Given the description of an element on the screen output the (x, y) to click on. 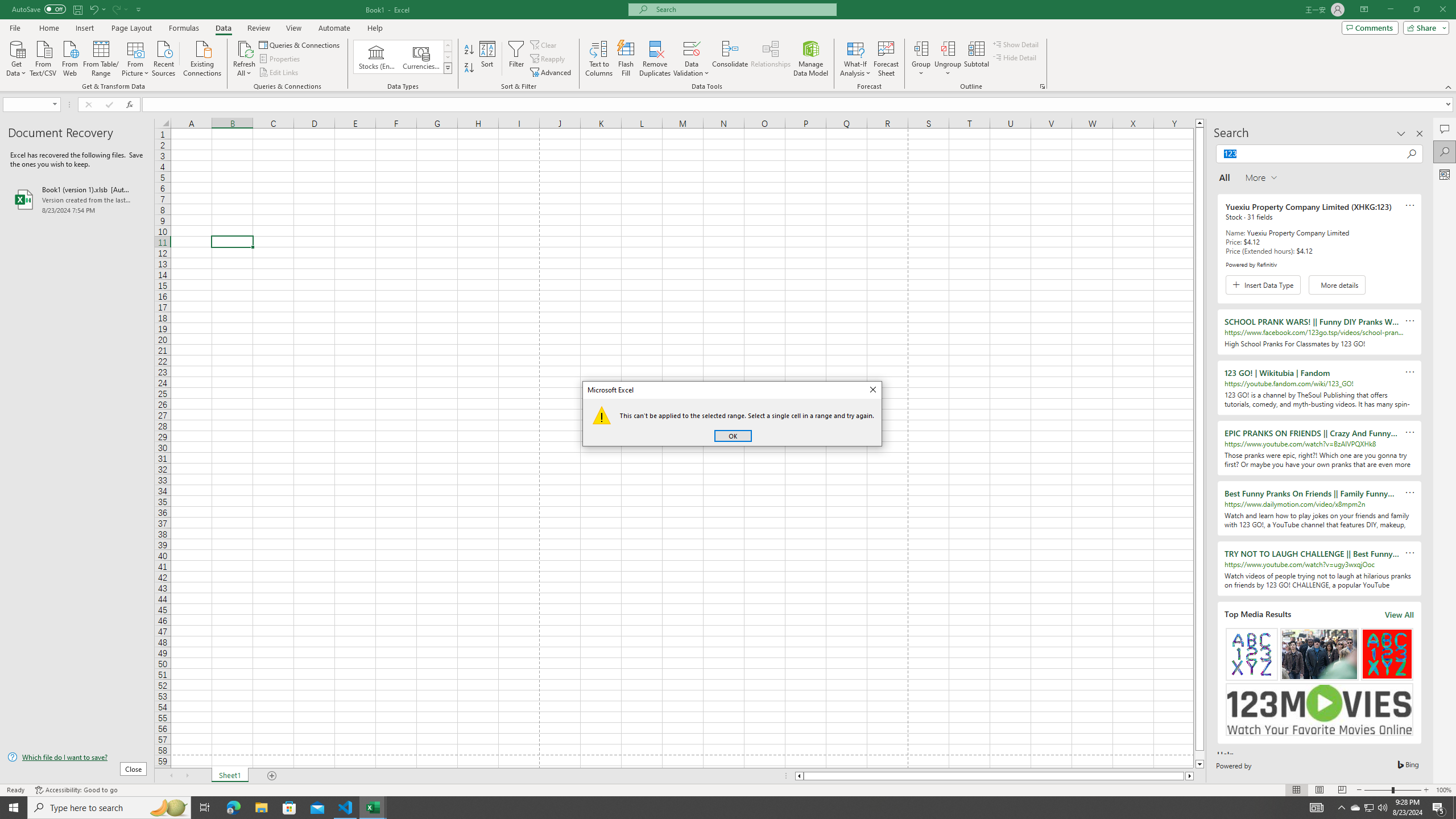
File Explorer (261, 807)
Which file do I want to save? (77, 757)
From Text/CSV (43, 57)
Formula Bar (799, 104)
Flash Fill (625, 58)
Queries & Connections (300, 44)
Manage Data Model (810, 58)
